Given the description of an element on the screen output the (x, y) to click on. 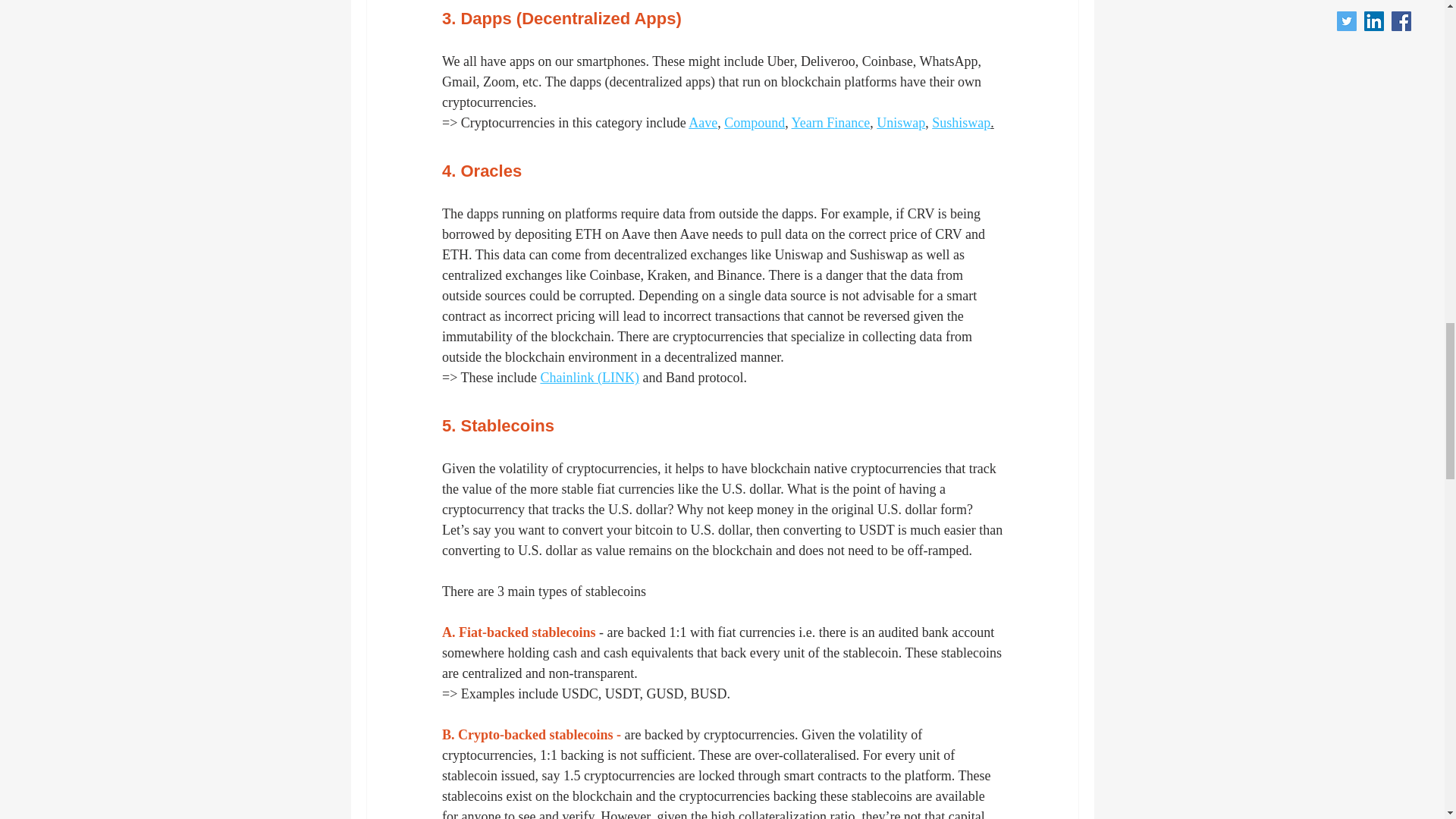
Aave (702, 122)
Yearn Finance (829, 122)
Compound (753, 122)
Uniswap (900, 122)
Sushiswap (960, 122)
